Given the description of an element on the screen output the (x, y) to click on. 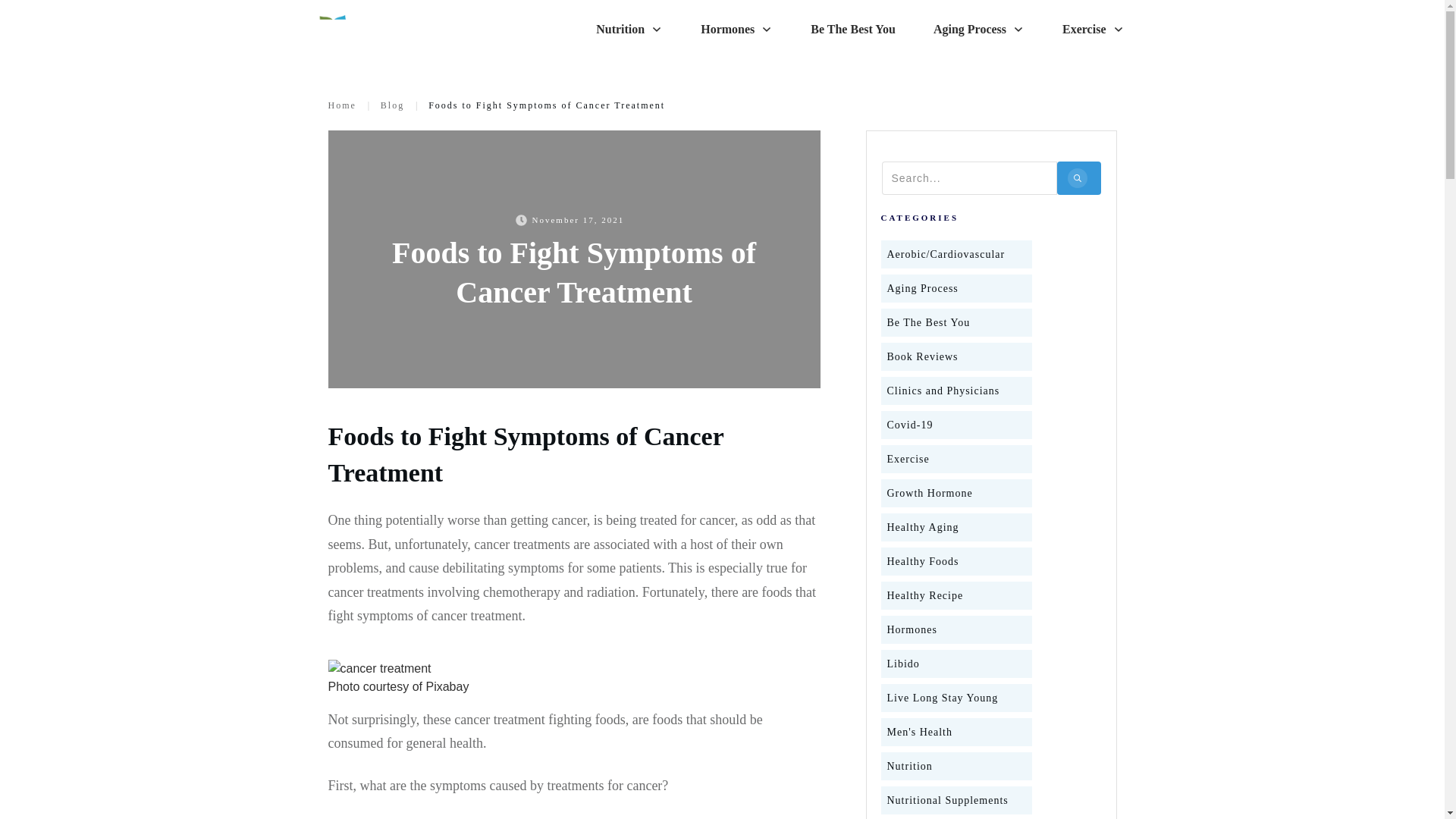
Nutrition (628, 29)
Aging Process (979, 29)
Home (341, 105)
Exercise (1093, 29)
Hormones (736, 29)
Blog (392, 105)
Be The Best You (852, 29)
